Given the description of an element on the screen output the (x, y) to click on. 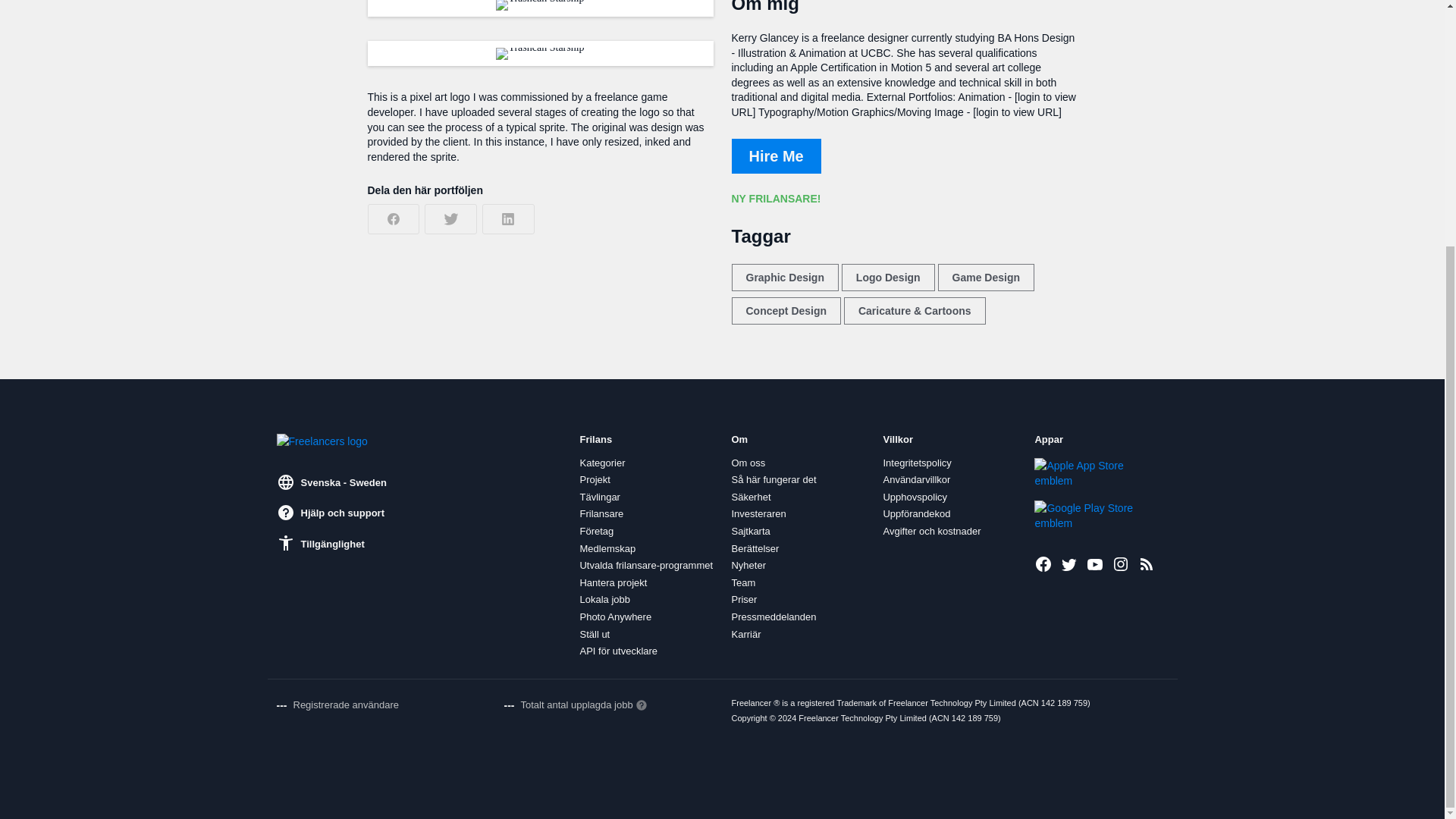
Om oss (747, 463)
Investeraren (758, 513)
Hire Me (775, 155)
Graphic Design (784, 277)
Projekt (594, 480)
Lokala jobb (604, 599)
Frilansare (601, 513)
Photo Anywhere (614, 616)
Logo Design (887, 277)
Senaste projekten (1146, 564)
